Given the description of an element on the screen output the (x, y) to click on. 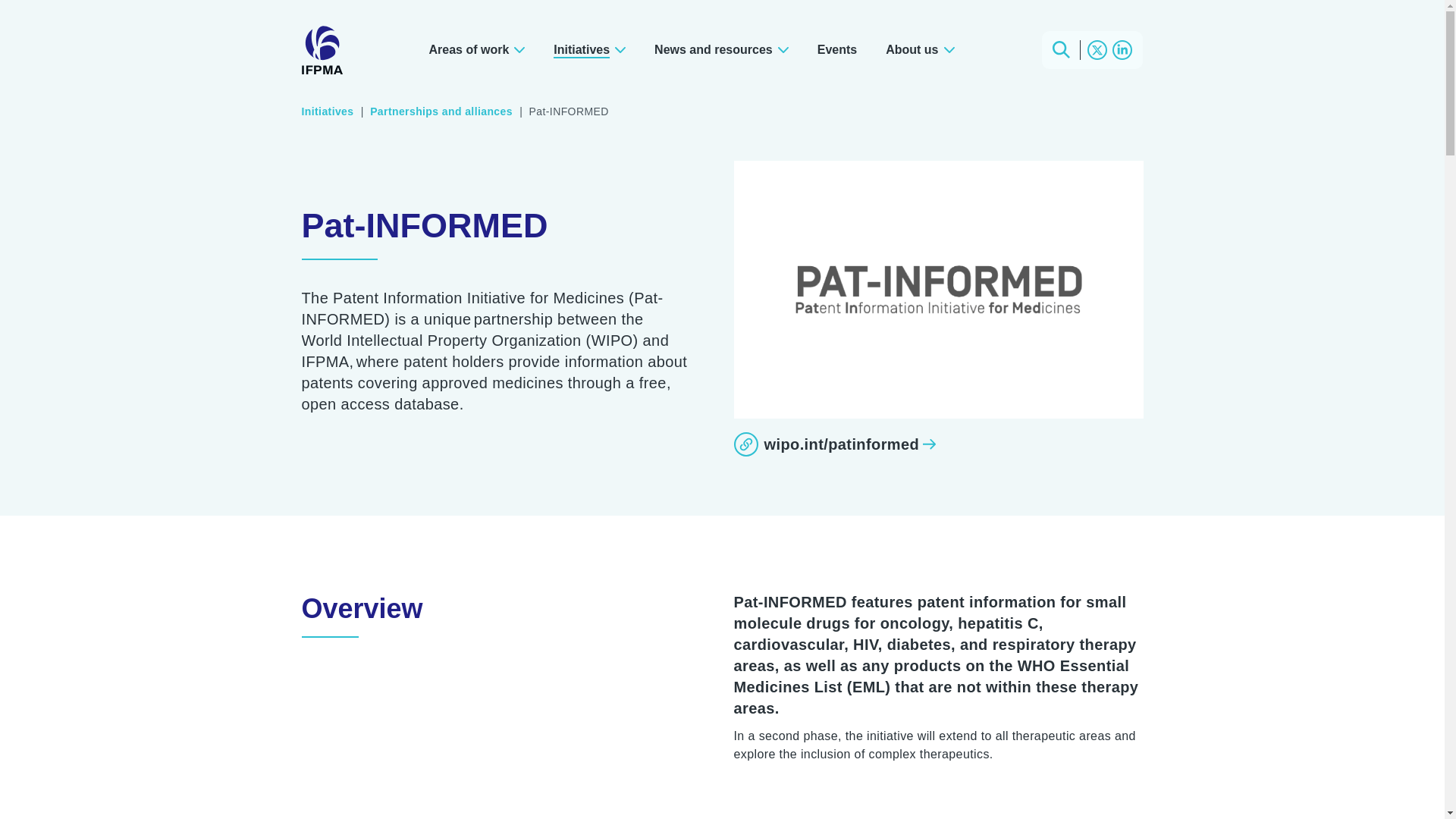
Areas of work (475, 49)
Initiatives (589, 49)
News and resources (721, 49)
IFPMA (321, 49)
